Given the description of an element on the screen output the (x, y) to click on. 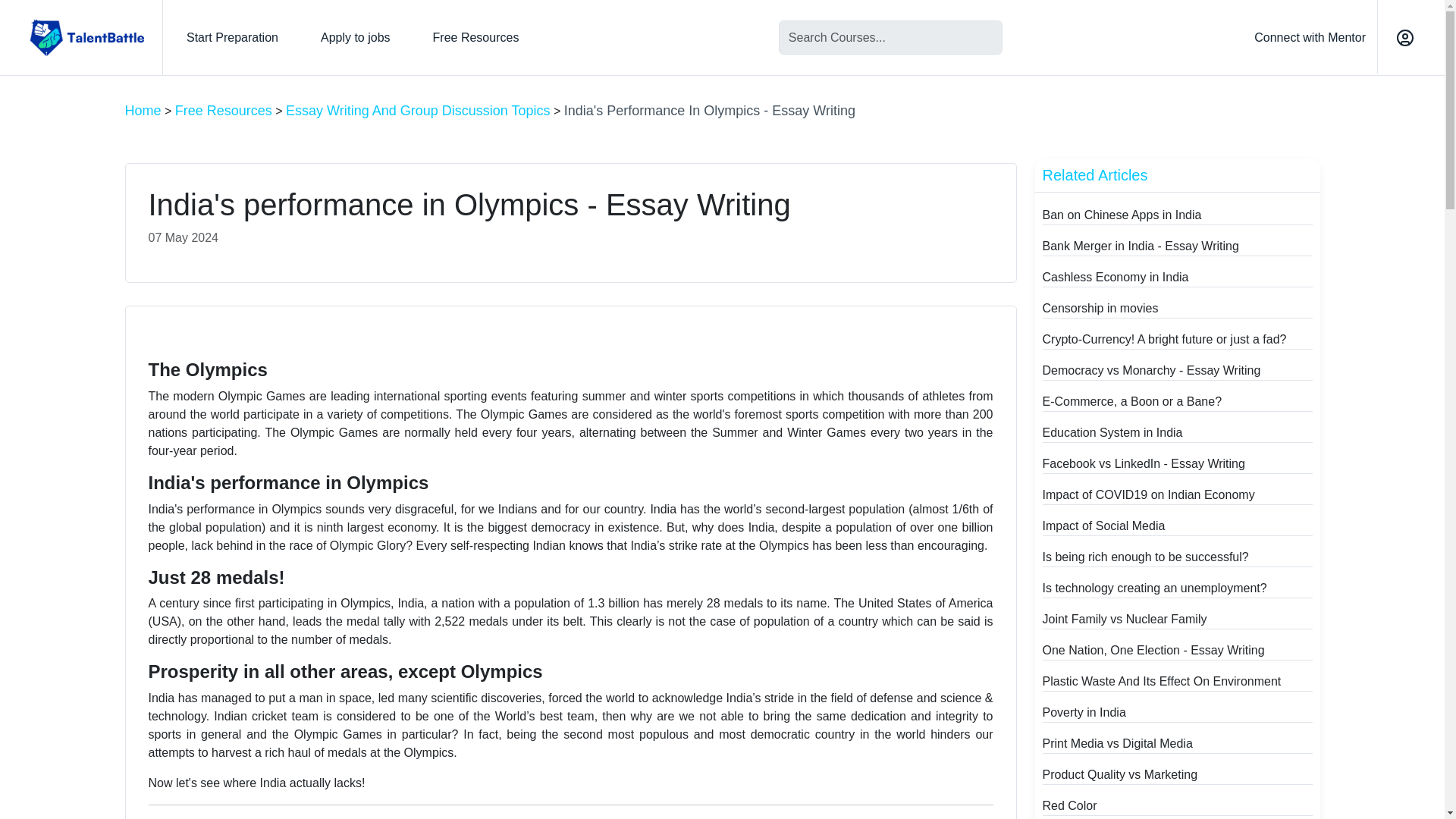
Home (141, 110)
Start Preparation (231, 37)
Apply to jobs (355, 37)
Essay Writing And Group Discussion Topics (417, 110)
Free Resources (475, 37)
Free Resources (223, 110)
